Given the description of an element on the screen output the (x, y) to click on. 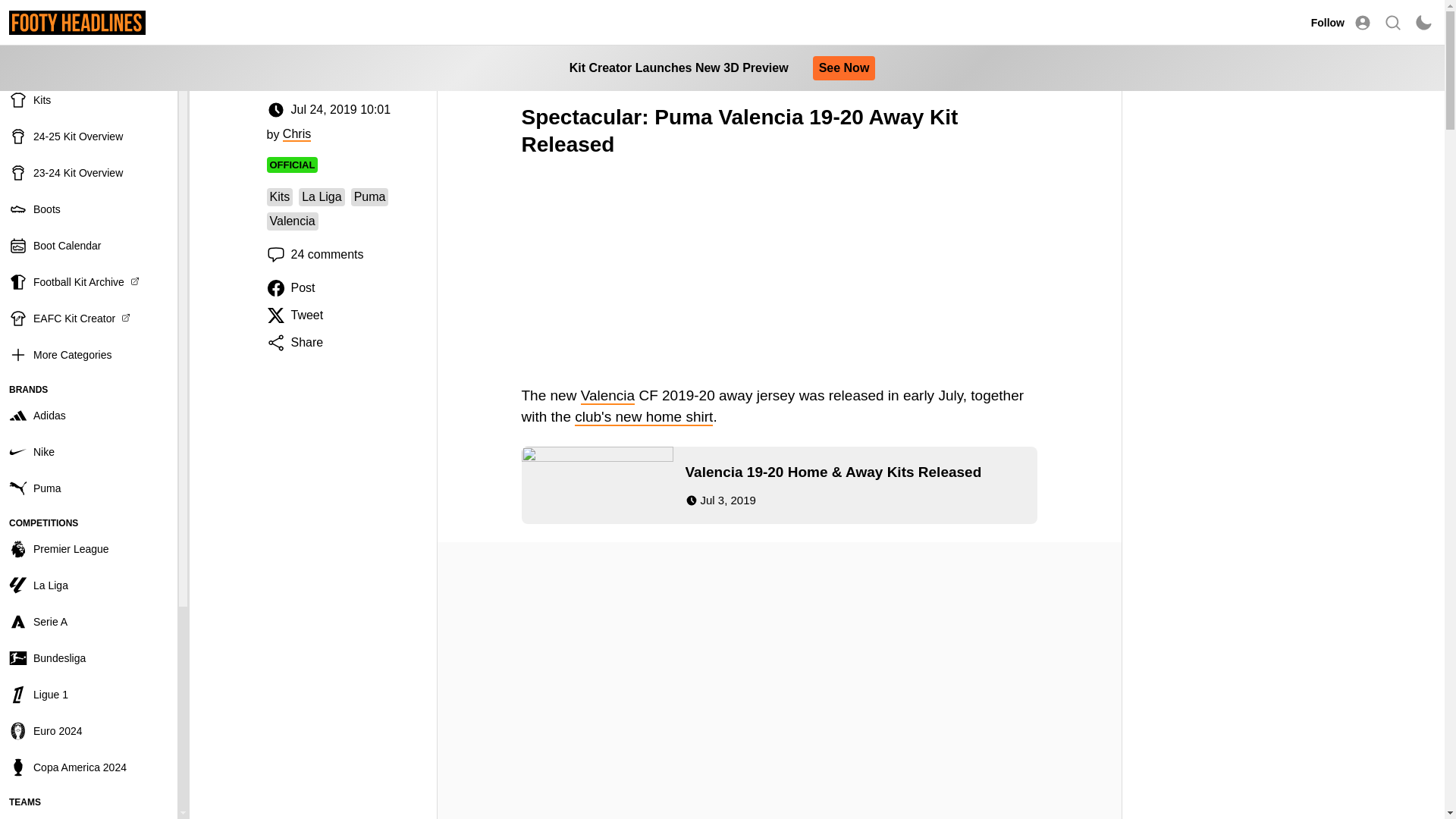
23-24 Kit Overview (88, 172)
Boots (88, 208)
Kits (88, 99)
Boot Calendar (88, 245)
Adidas (88, 415)
Follow (1327, 22)
Copa America 2024 (88, 767)
Nike (88, 452)
Ligue 1 (88, 694)
Premier League (88, 548)
